Given the description of an element on the screen output the (x, y) to click on. 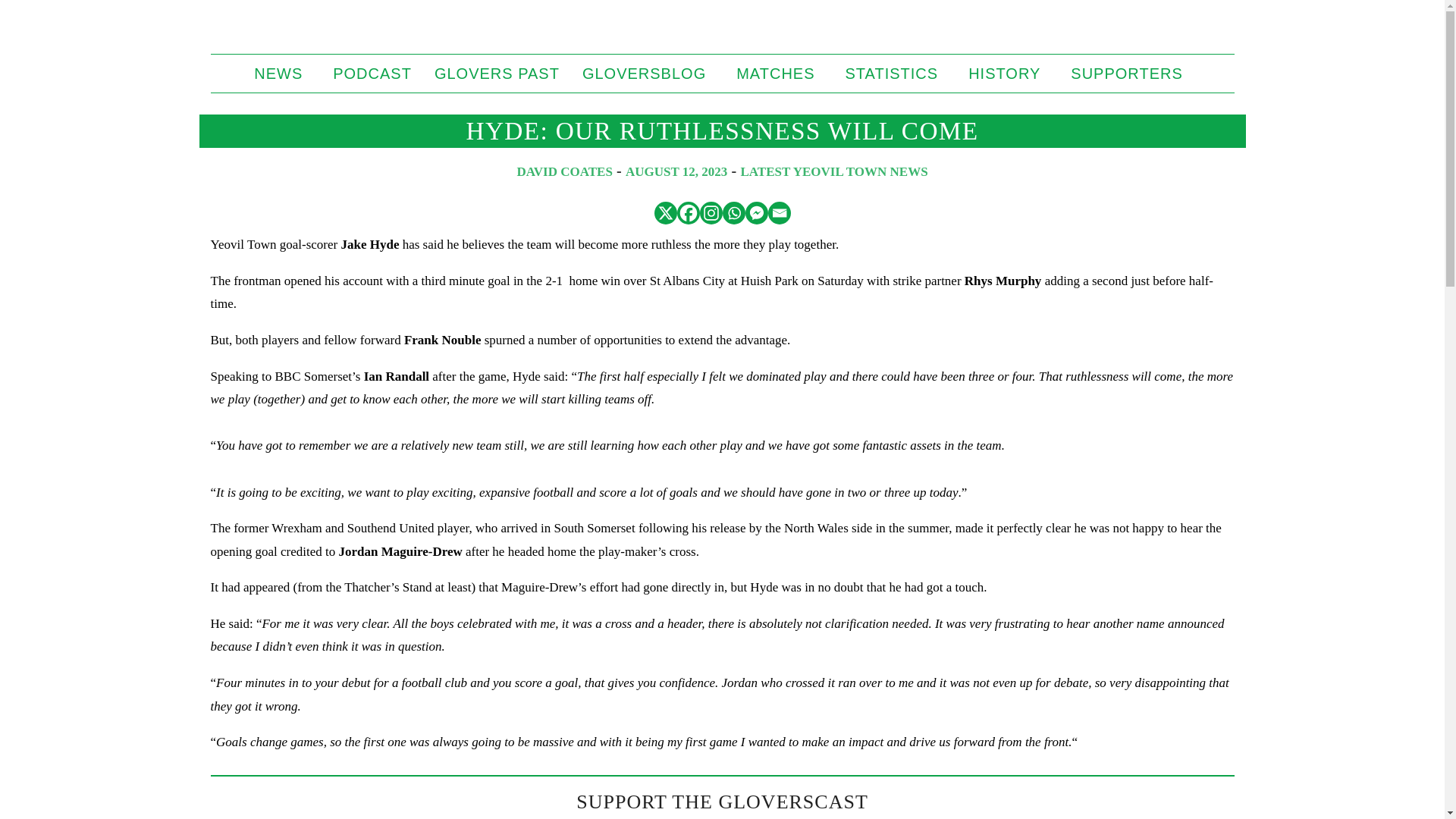
GLOVERS PAST (496, 73)
X (665, 212)
STATISTICS (896, 73)
Facebook (687, 212)
Instagram (710, 212)
HISTORY (1007, 73)
MATCHES (778, 73)
Posts by David Coates (563, 171)
DAVID COATES (563, 171)
SUPPORTERS (1130, 73)
Email (778, 212)
Saturday, August 12, 2023, 9:17 pm (676, 171)
LATEST YEOVIL TOWN NEWS (834, 171)
NEWS (282, 73)
